Given the description of an element on the screen output the (x, y) to click on. 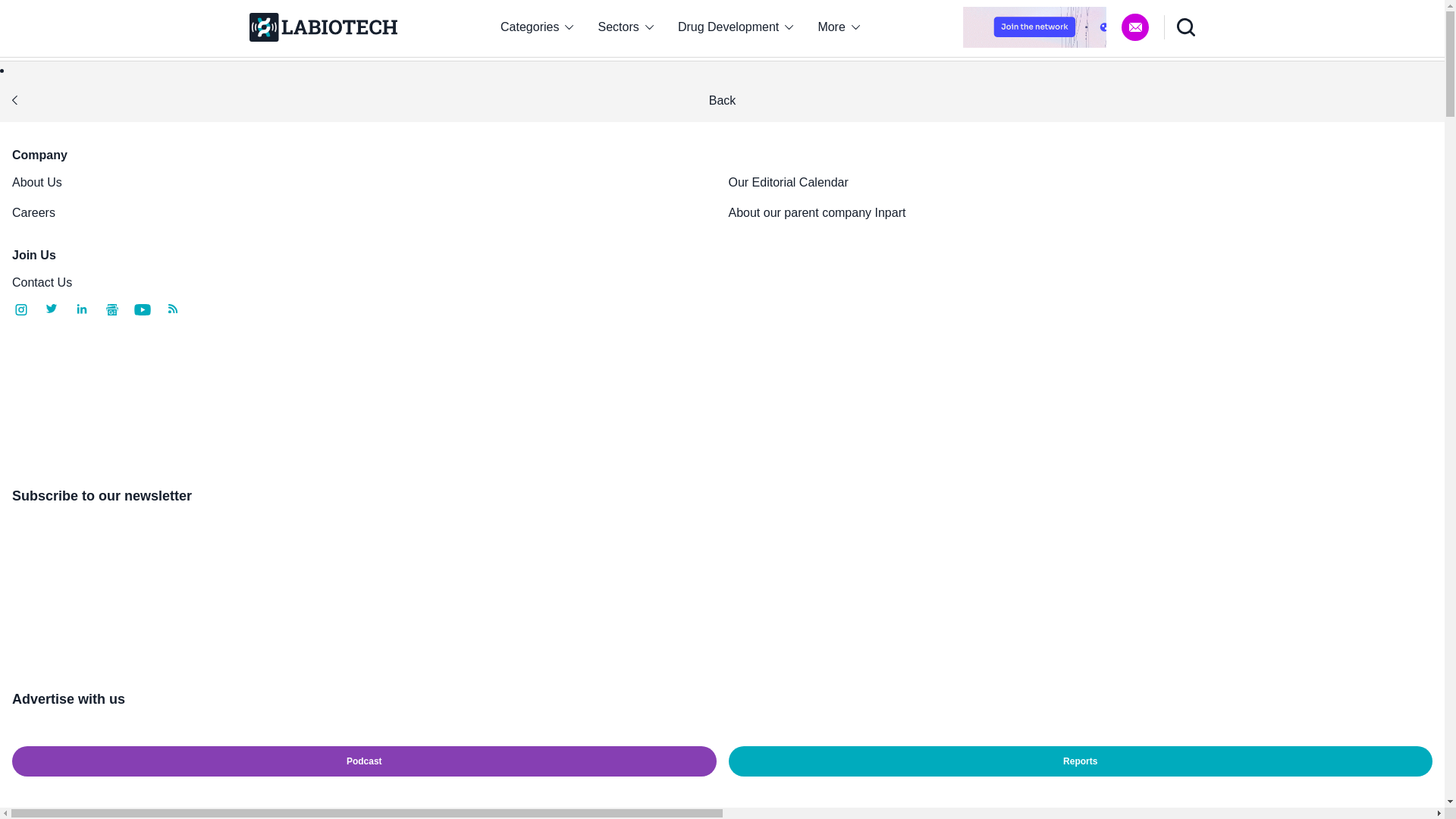
Labiotech.eu (322, 27)
Drug Development (735, 27)
Categories (536, 27)
Sectors (625, 27)
